Given the description of an element on the screen output the (x, y) to click on. 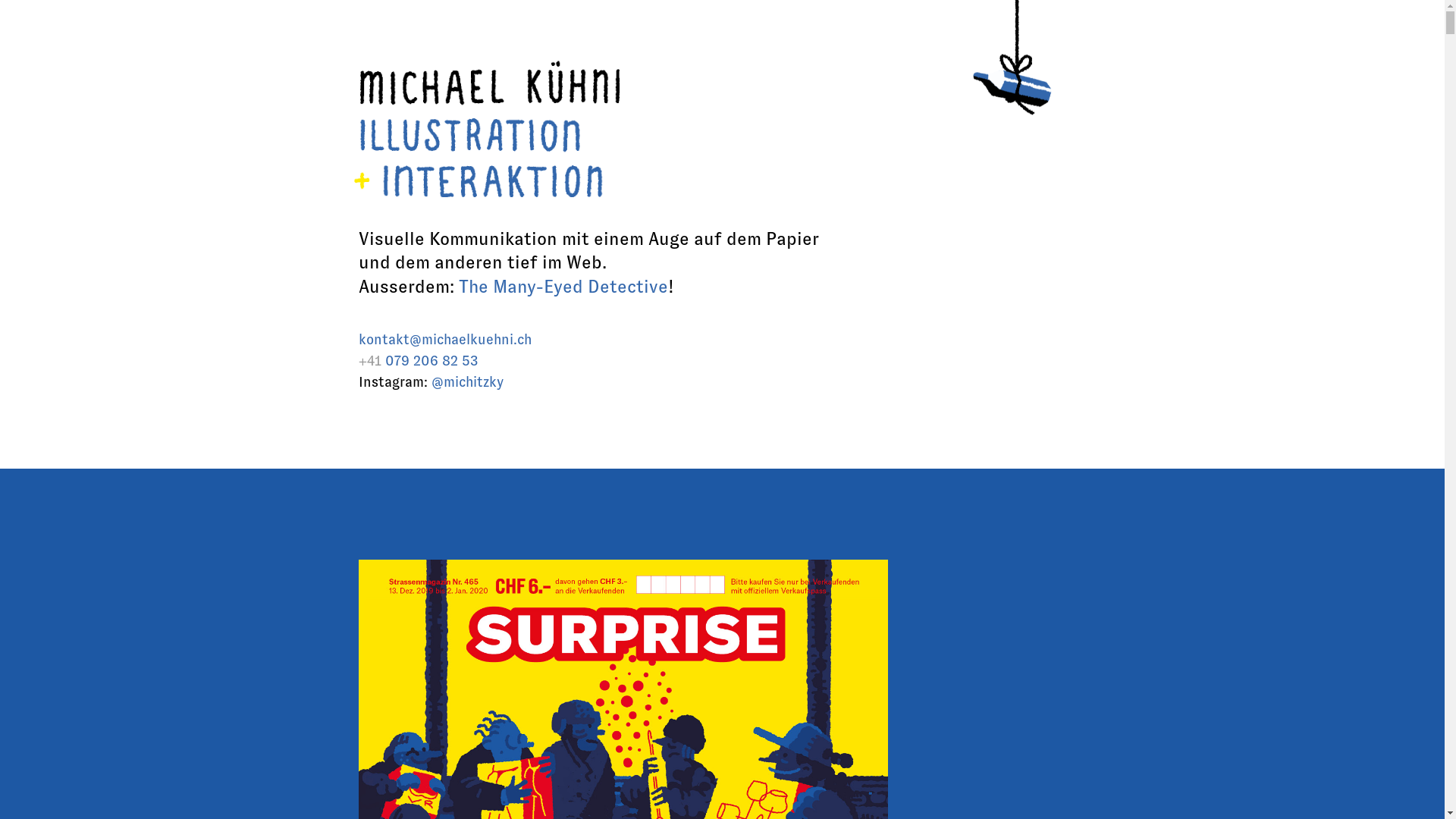
079 206 82 53 Element type: text (431, 360)
@michitzky Element type: text (466, 381)
kontakt@michaelkuehni.ch Element type: text (443, 339)
The Many-Eyed Detective Element type: text (562, 286)
